Given the description of an element on the screen output the (x, y) to click on. 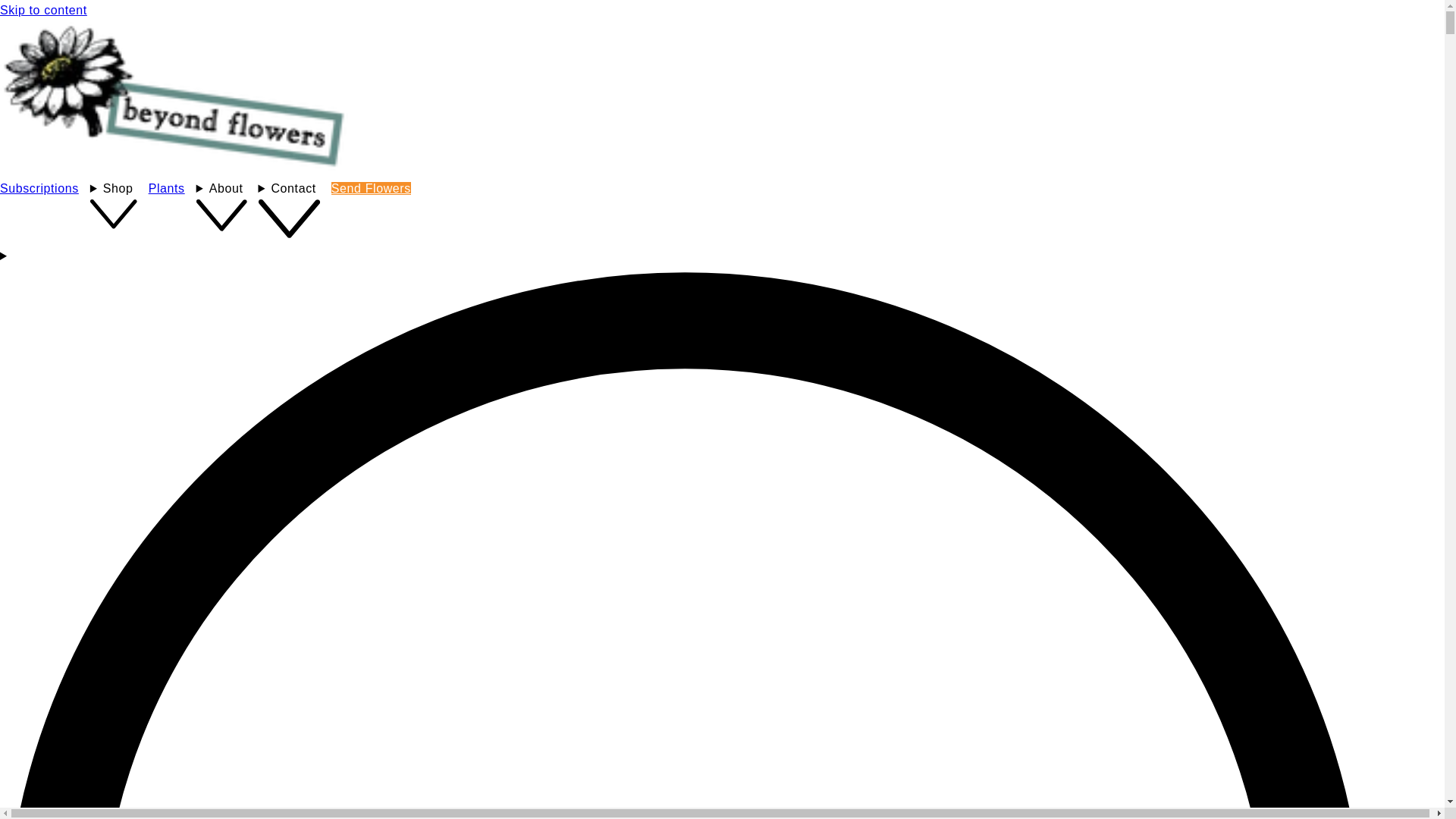
Send Flowers Element type: text (371, 188)
Subscriptions Element type: text (39, 188)
Skip to content Element type: text (43, 9)
Plants Element type: text (166, 188)
